Given the description of an element on the screen output the (x, y) to click on. 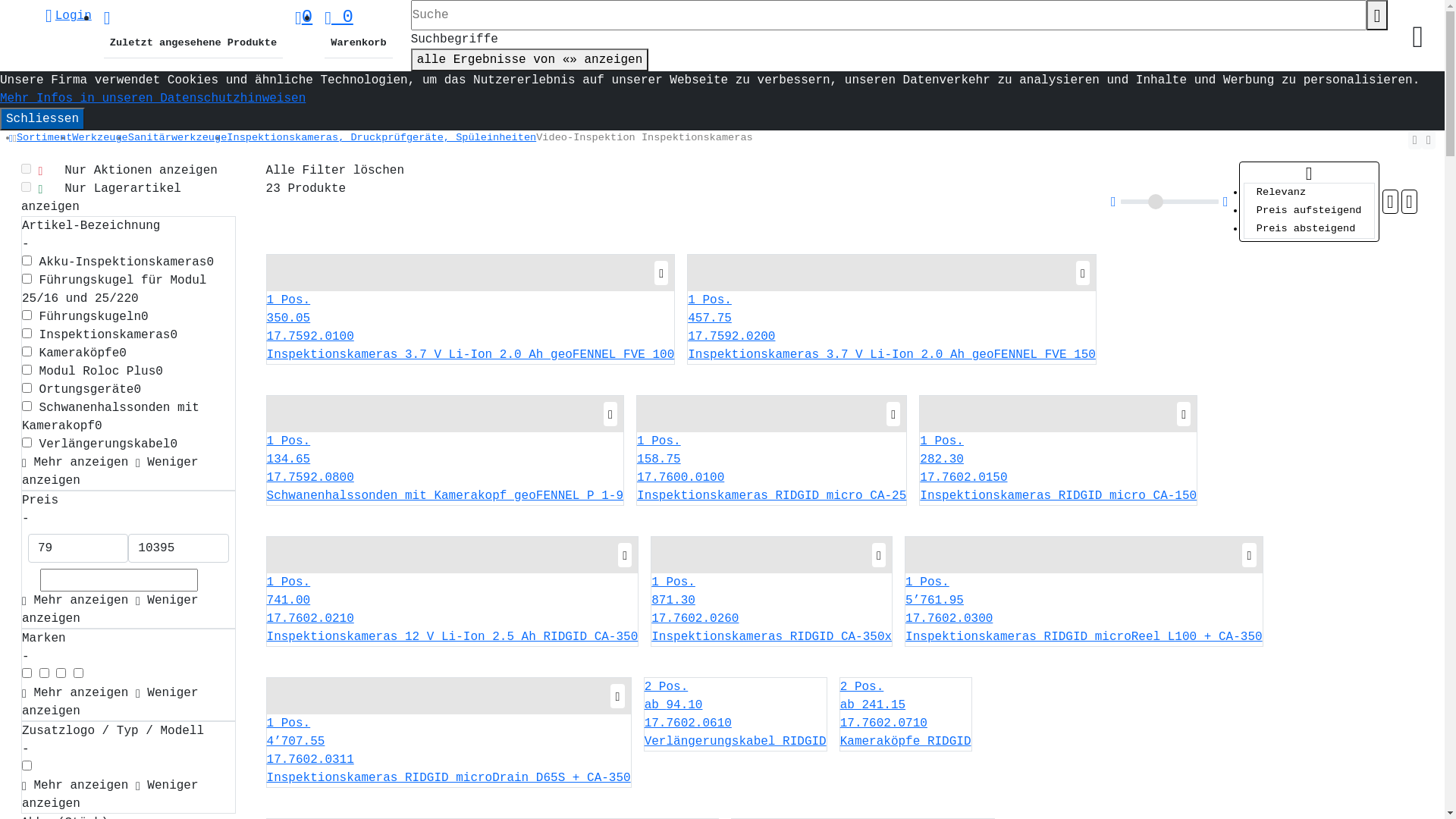
Sortiment Element type: text (44, 137)
1 Pos.
871.30
17.7602.0260
Inspektionskameras RIDGID CA-350x Element type: text (771, 609)
Preis absteigend Element type: text (1309, 228)
Sortiment Element type: text (44, 137)
0 Element type: text (338, 16)
Schliessen Element type: text (42, 118)
Preis aufsteigend Element type: text (1309, 210)
Werkzeuge Element type: text (99, 137)
Warenkorb Element type: text (358, 43)
0 Element type: text (303, 16)
Werkzeuge Element type: text (99, 137)
Relevanz Element type: text (1309, 192)
Login Element type: text (68, 15)
Mehr Infos in unseren Datenschutzhinweisen Element type: text (152, 98)
